Given the description of an element on the screen output the (x, y) to click on. 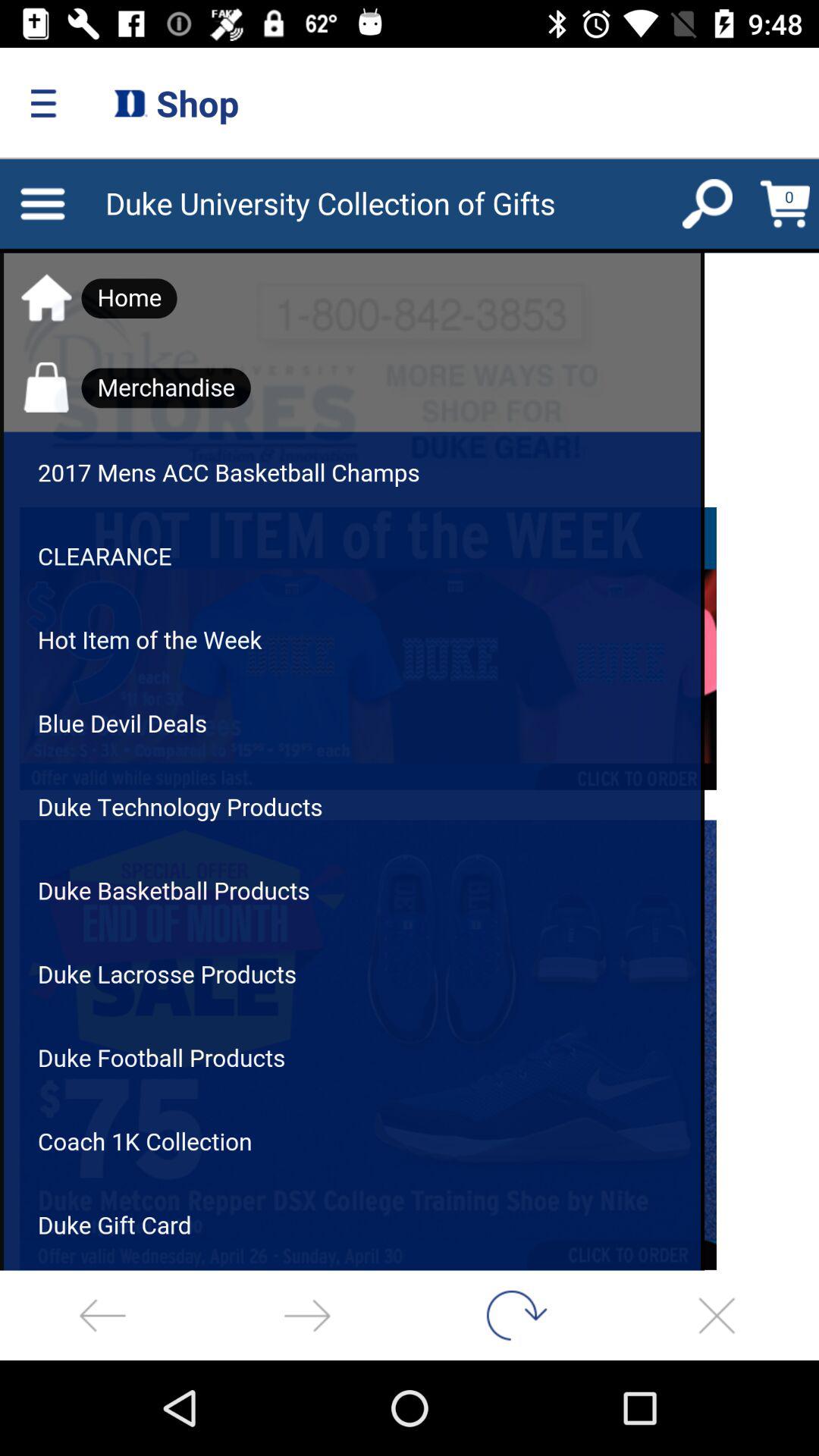
menu (409, 714)
